Given the description of an element on the screen output the (x, y) to click on. 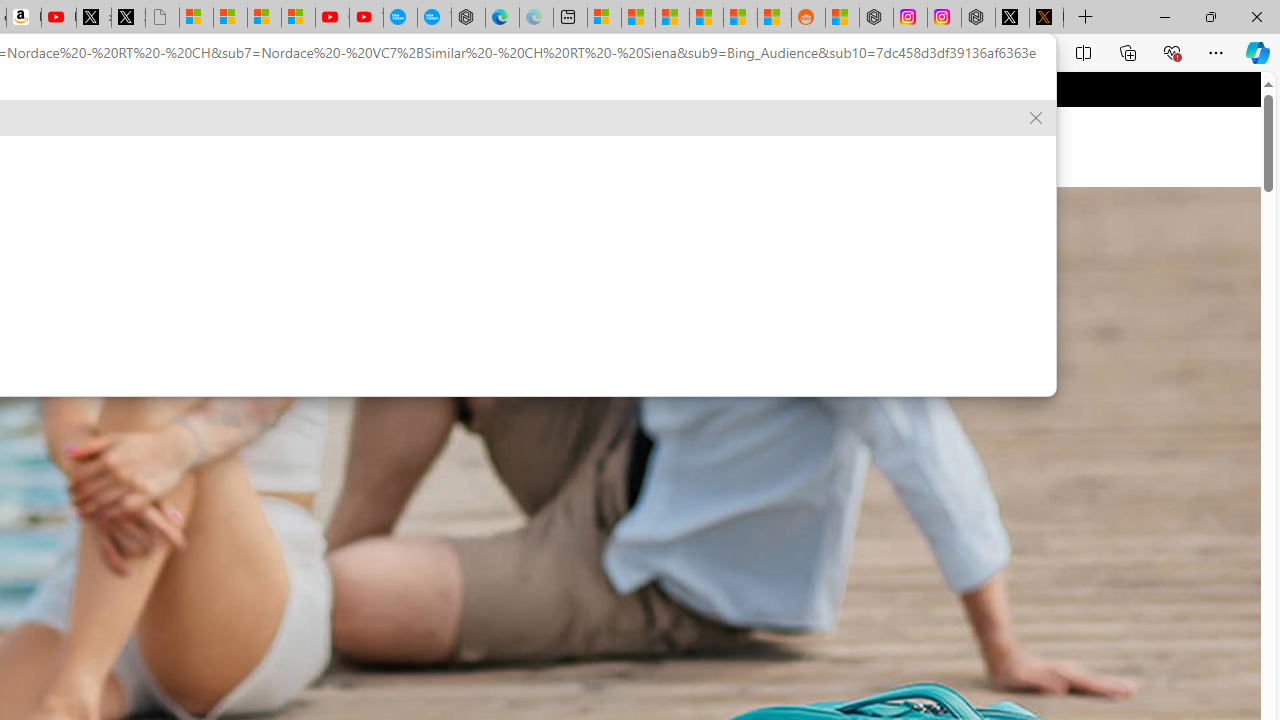
YouTube Kids - An App Created for Kids to Explore Content (365, 17)
Settings and more (Alt+F) (1215, 52)
Restore (1210, 16)
Copilot (Ctrl+Shift+.) (1258, 52)
New tab (570, 17)
The most popular Google 'how to' searches (434, 17)
Shanghai, China Weather trends | Microsoft Weather (774, 17)
